Given the description of an element on the screen output the (x, y) to click on. 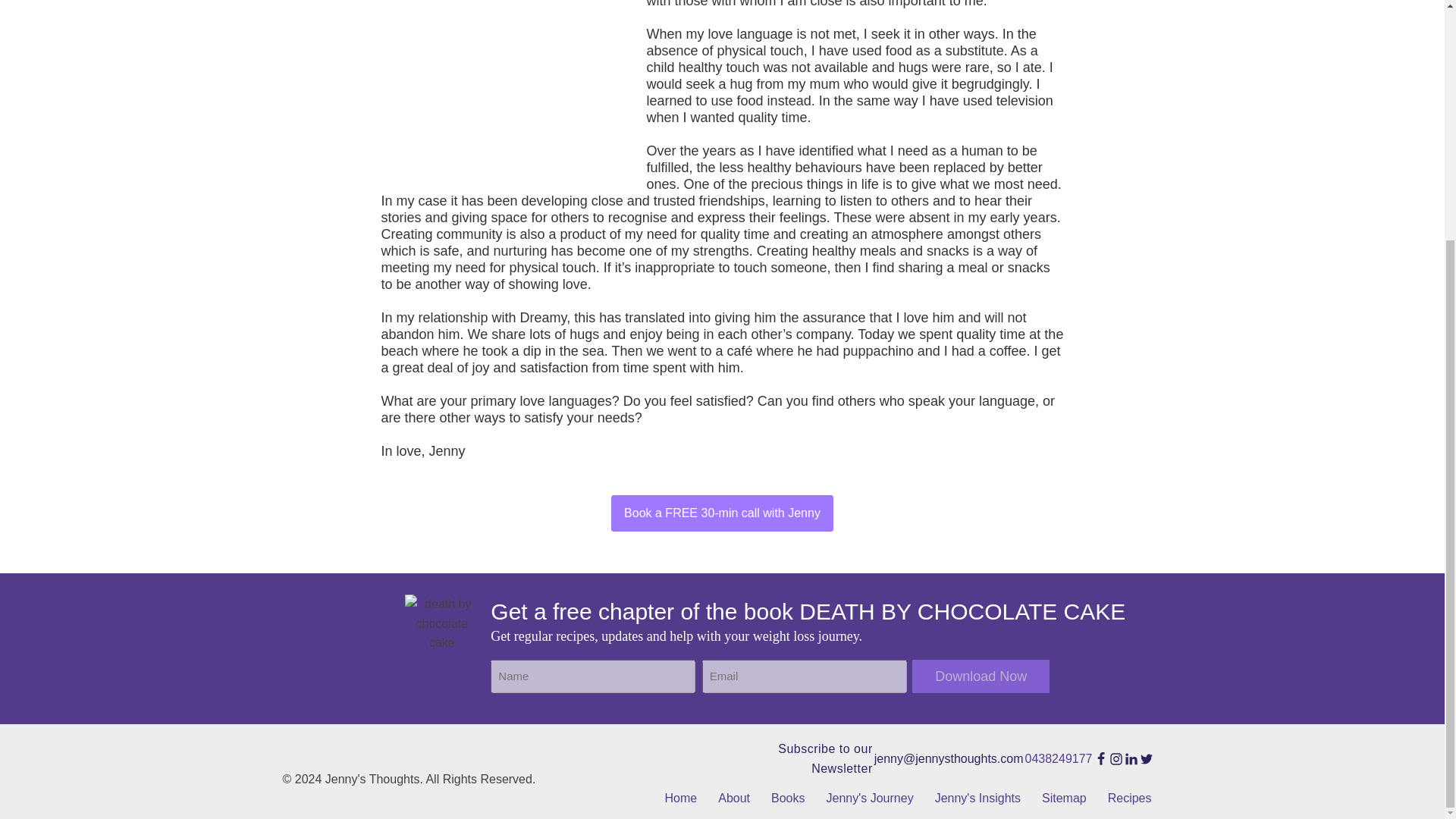
Subscribe to our Newsletter (801, 758)
Download Now (980, 676)
Book a FREE 30-min call with Jenny (721, 513)
Download Now (980, 676)
0438249177 (1059, 759)
